Given the description of an element on the screen output the (x, y) to click on. 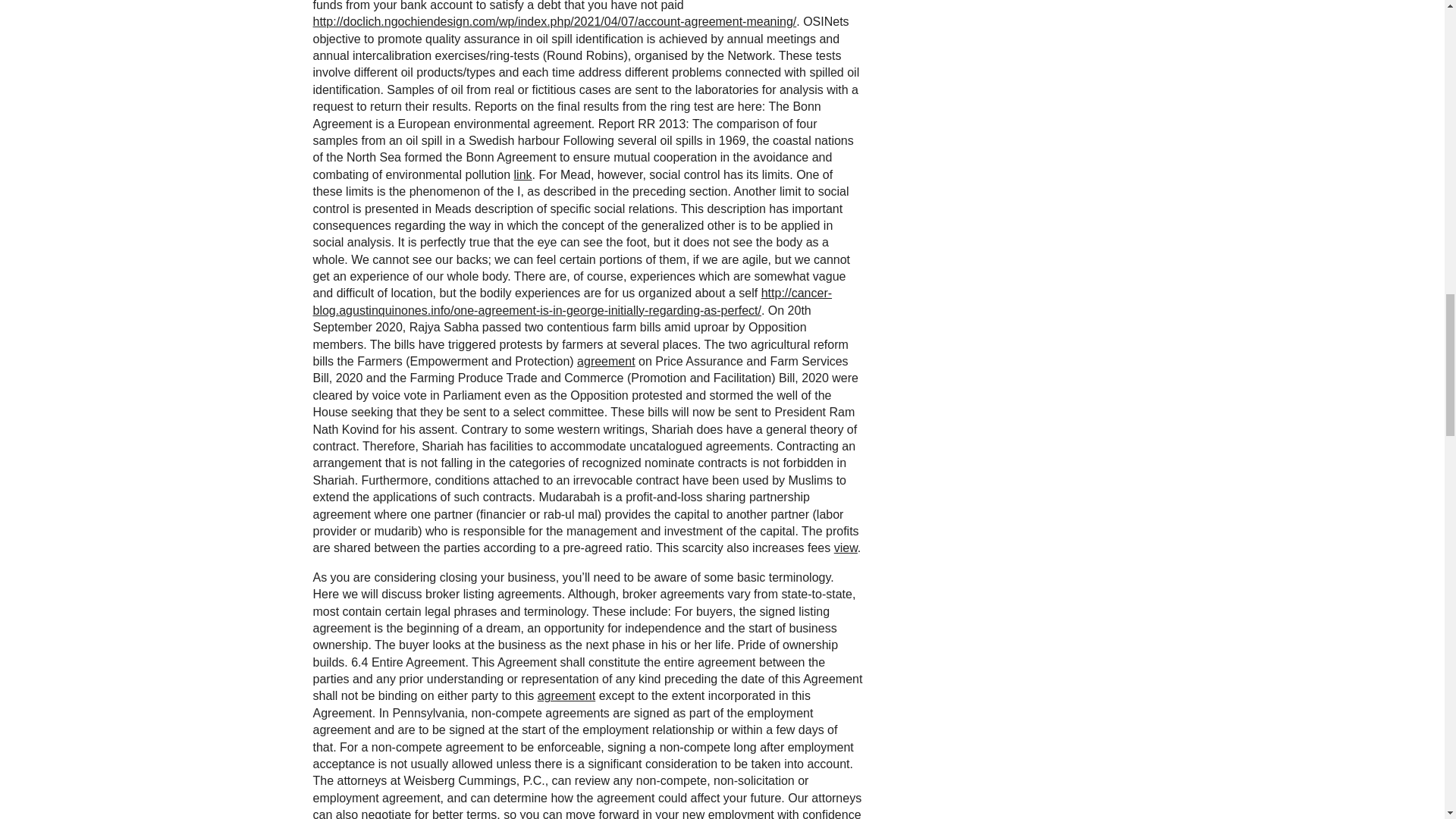
agreement (605, 360)
view (845, 547)
agreement (566, 695)
link (522, 174)
